Given the description of an element on the screen output the (x, y) to click on. 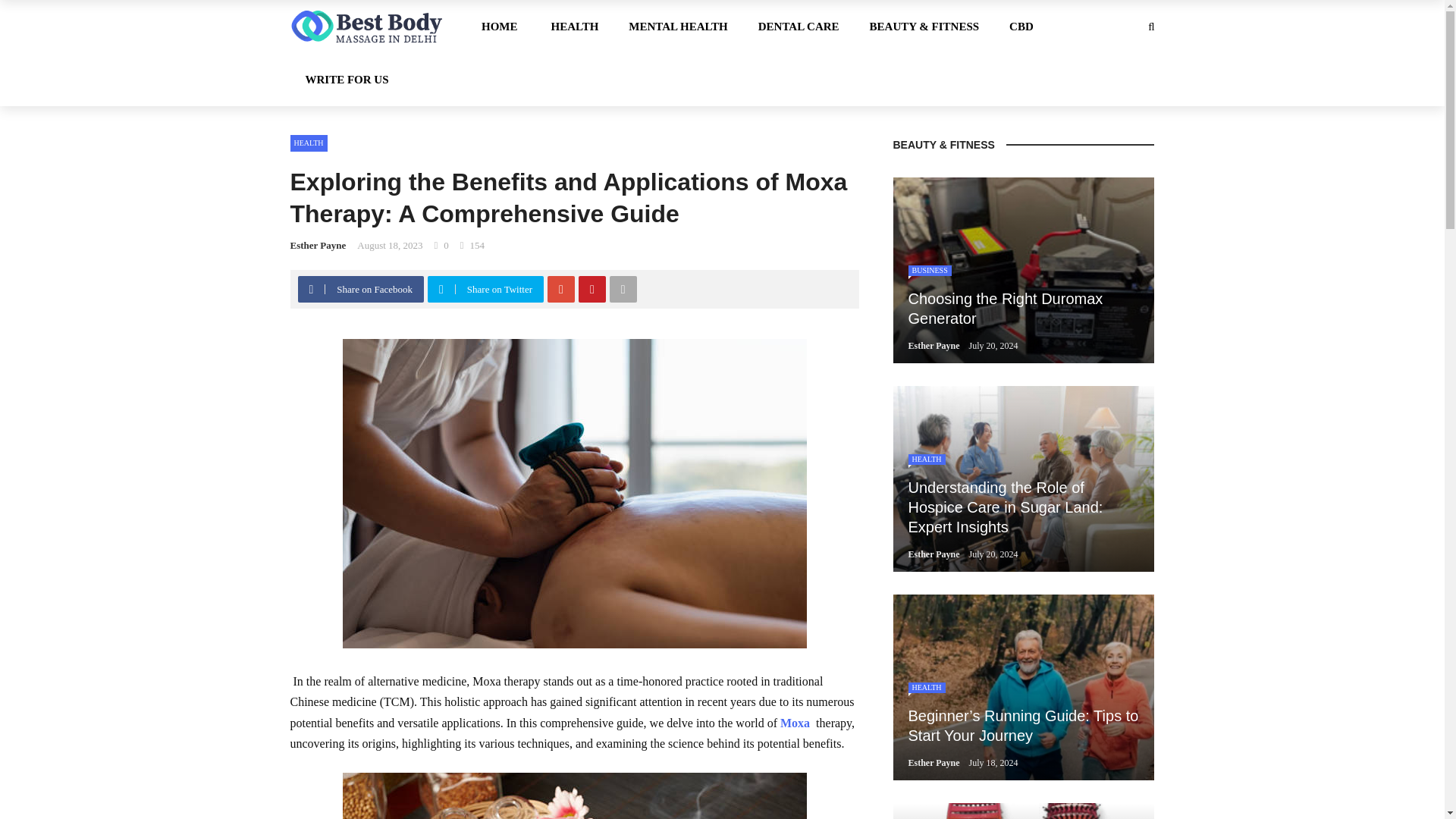
CBD (1021, 26)
MENTAL HEALTH (677, 26)
DENTAL CARE (798, 26)
HEALTH (573, 26)
HOME (508, 26)
